Given the description of an element on the screen output the (x, y) to click on. 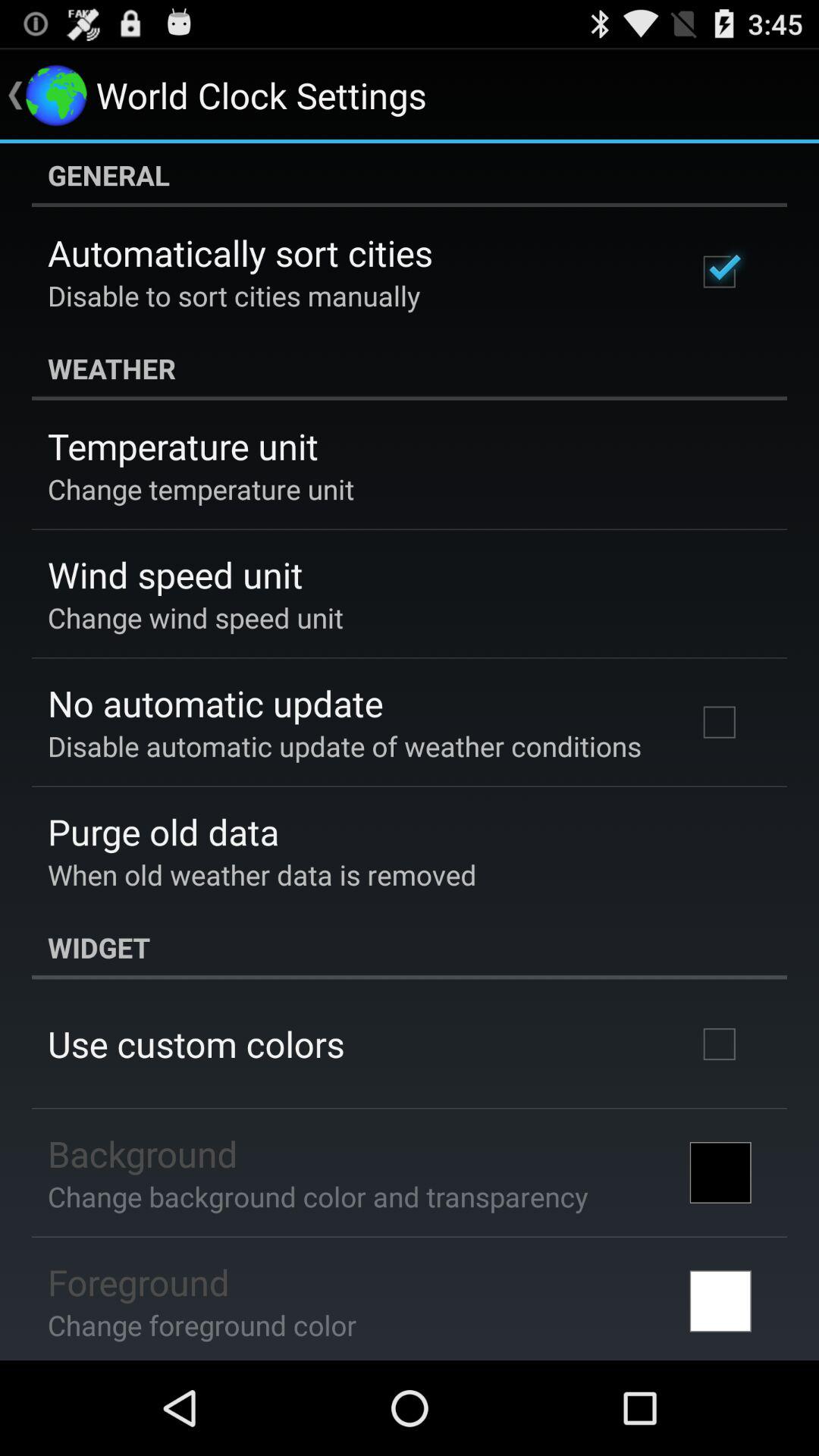
choose the icon next to change background color icon (720, 1172)
